Given the description of an element on the screen output the (x, y) to click on. 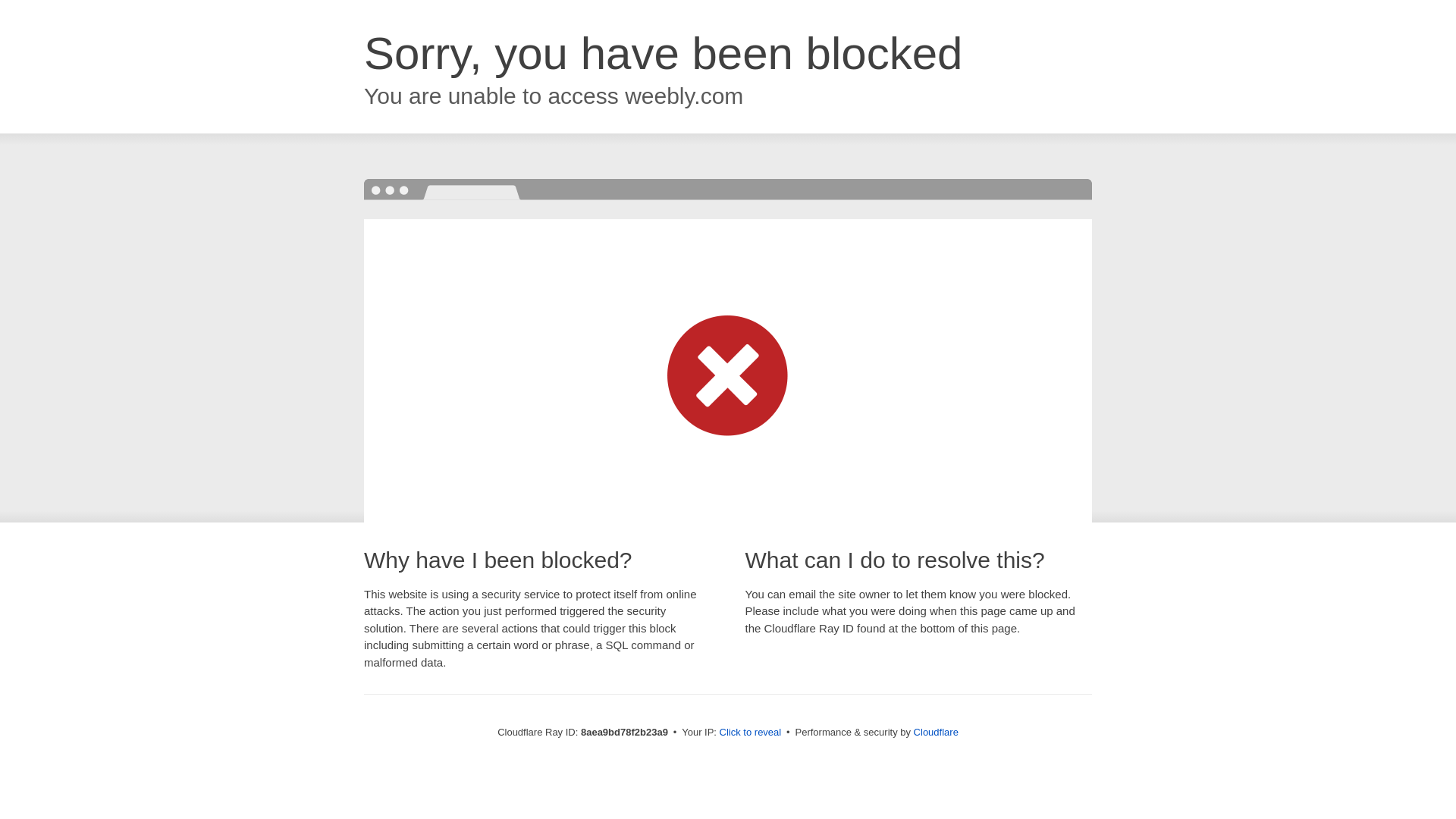
Cloudflare (936, 731)
Click to reveal (750, 732)
